Given the description of an element on the screen output the (x, y) to click on. 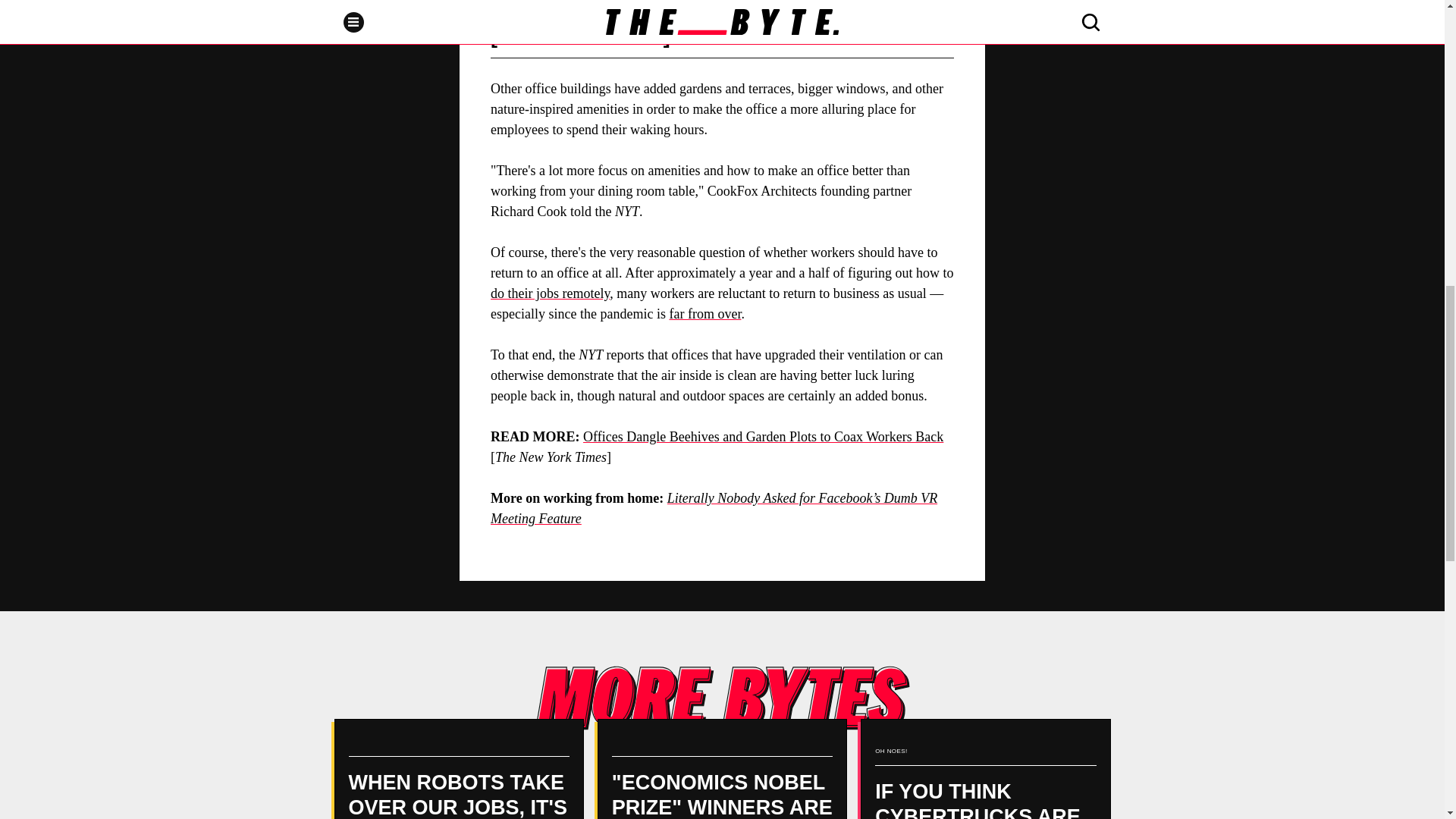
far from over (704, 313)
do their jobs remotely (550, 293)
